Given the description of an element on the screen output the (x, y) to click on. 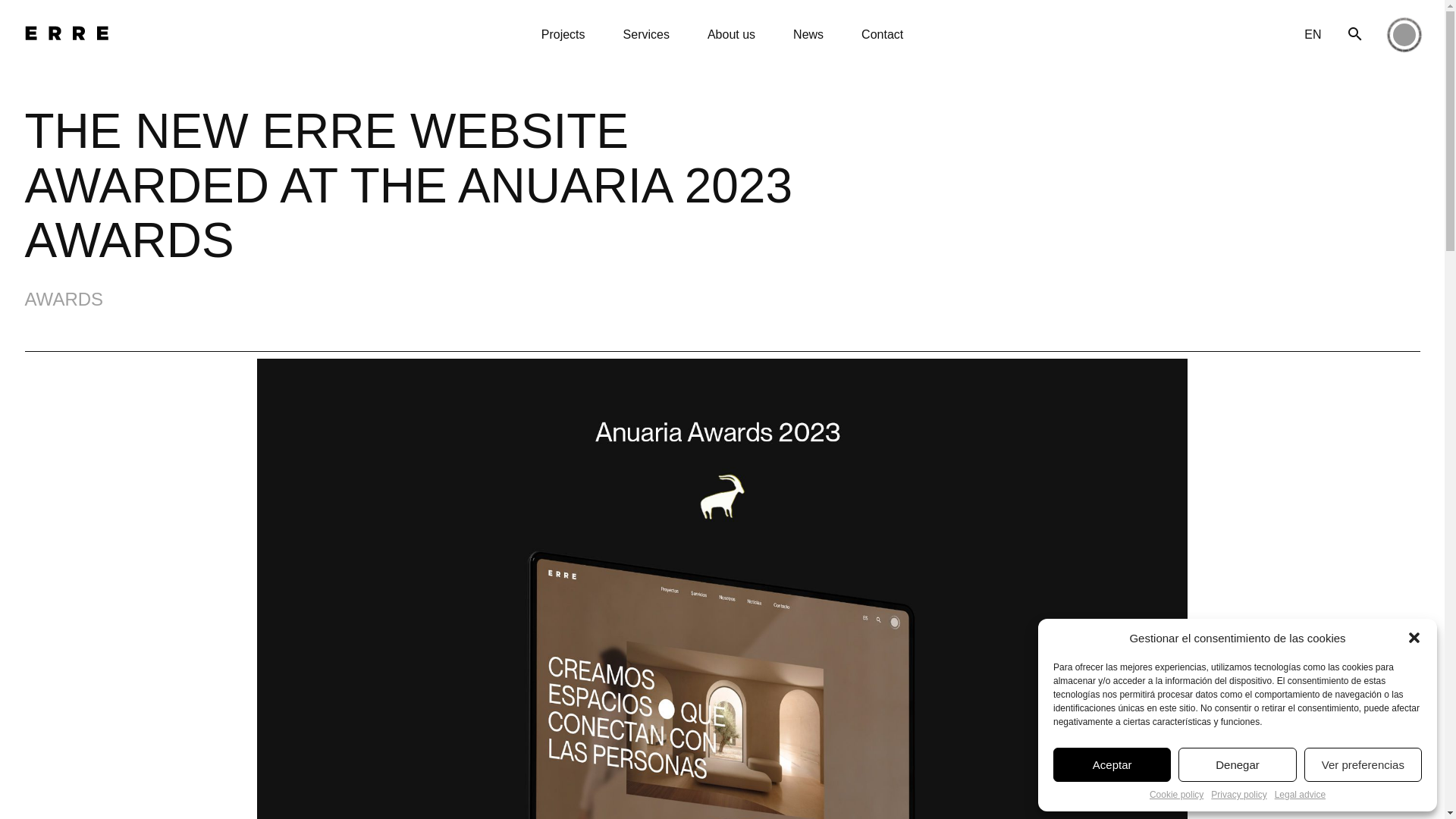
Services (646, 33)
Ver preferencias (1363, 764)
Cookie policy (1177, 794)
Contact (881, 33)
Legal advice (1299, 794)
Privacy policy (1238, 794)
Projects (563, 33)
News (808, 33)
About us (731, 33)
Aceptar (1111, 764)
Denegar (1236, 764)
SHARE (1379, 751)
EN (1312, 33)
